Given the description of an element on the screen output the (x, y) to click on. 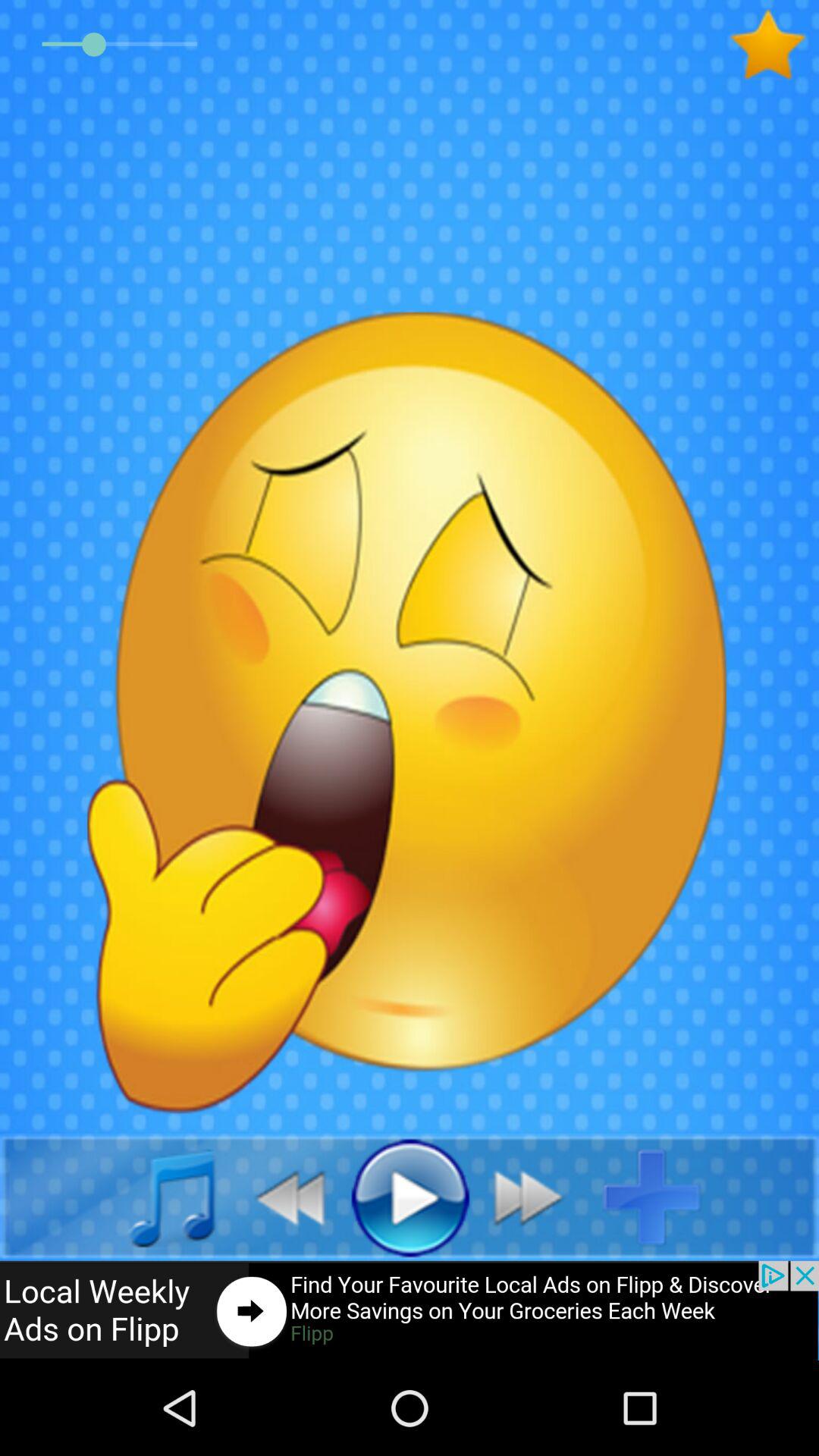
see advertisement (409, 1310)
